Given the description of an element on the screen output the (x, y) to click on. 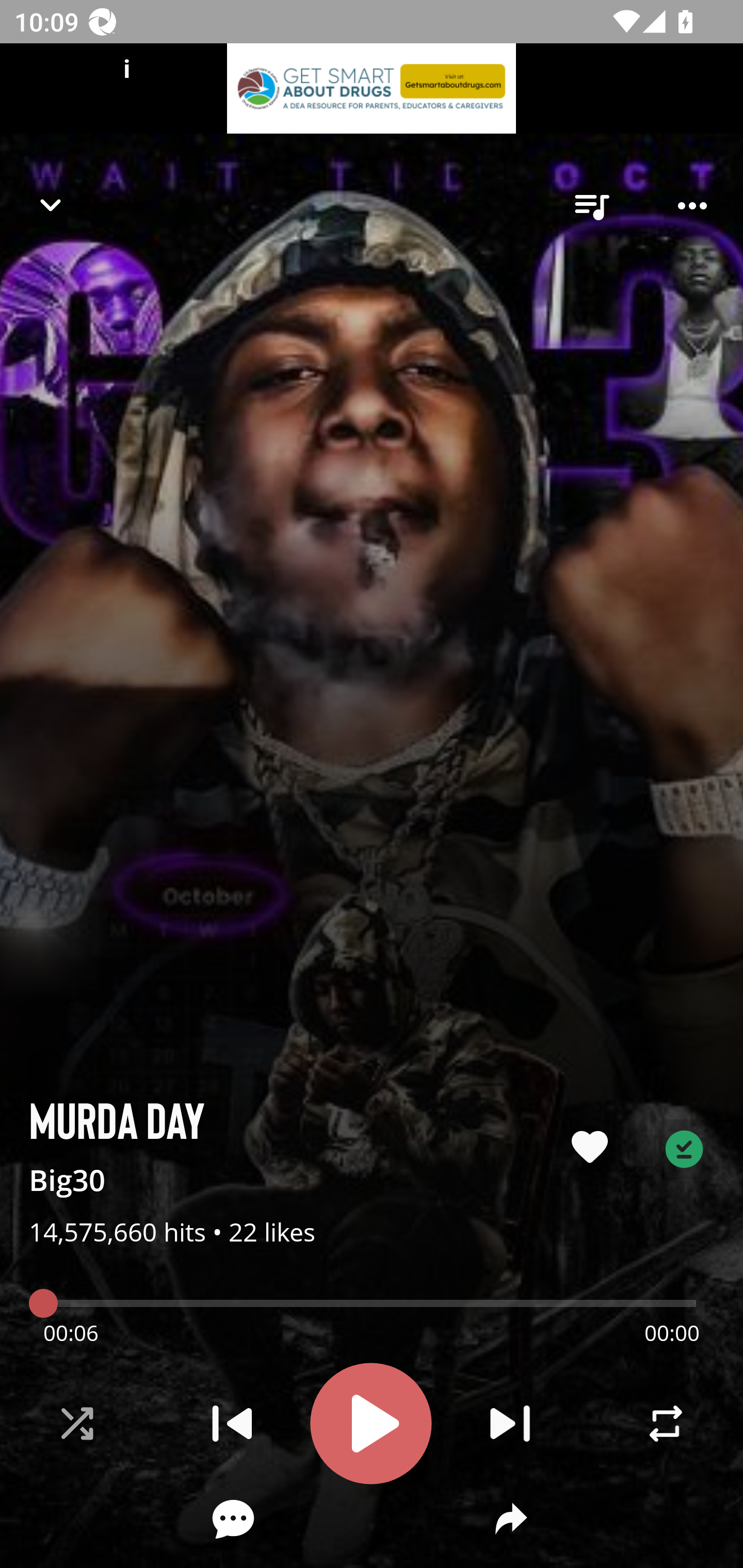
Navigate up (50, 205)
queue (590, 206)
Player options (692, 206)
